Given the description of an element on the screen output the (x, y) to click on. 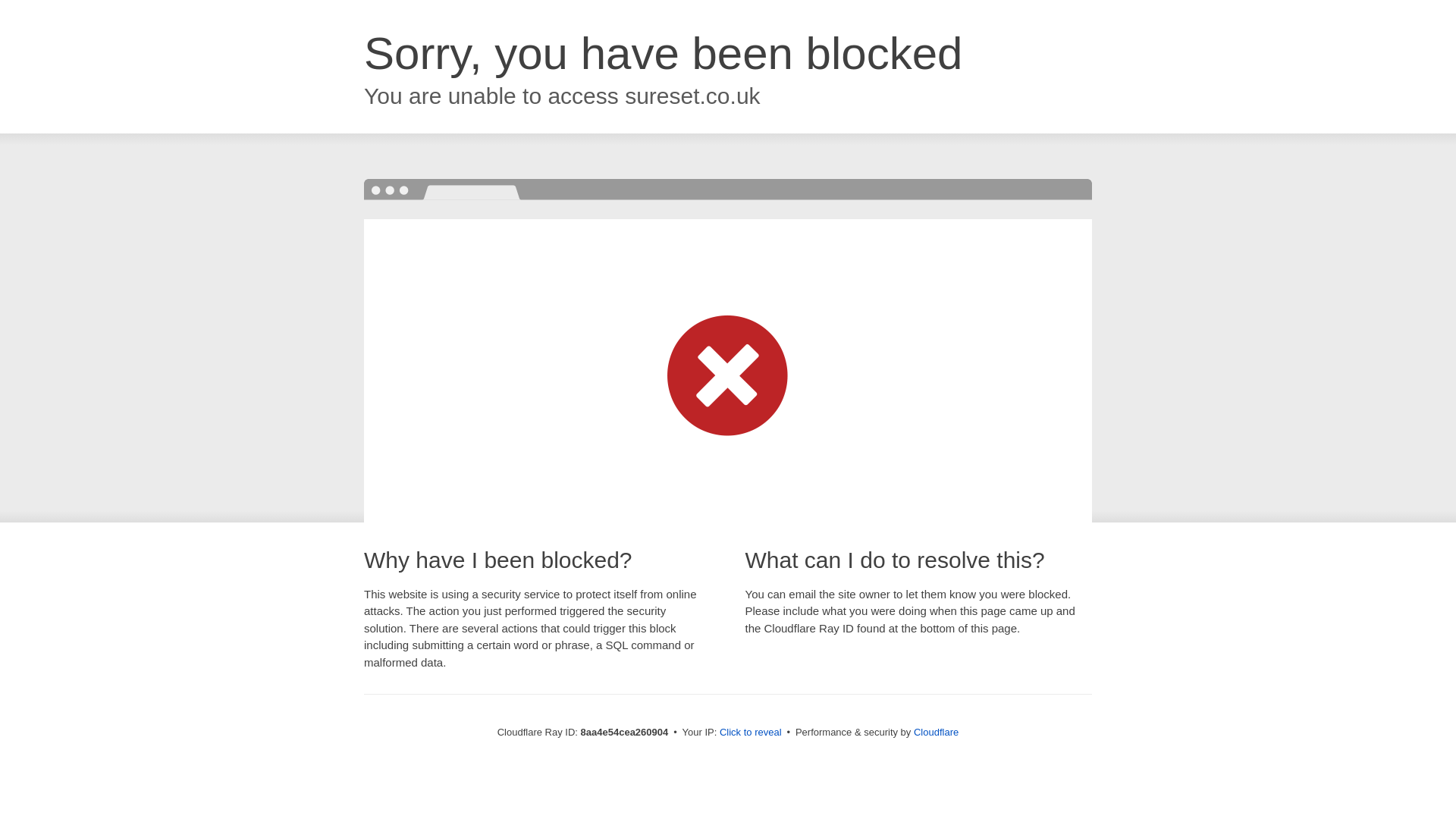
Cloudflare (936, 731)
Click to reveal (750, 732)
